Given the description of an element on the screen output the (x, y) to click on. 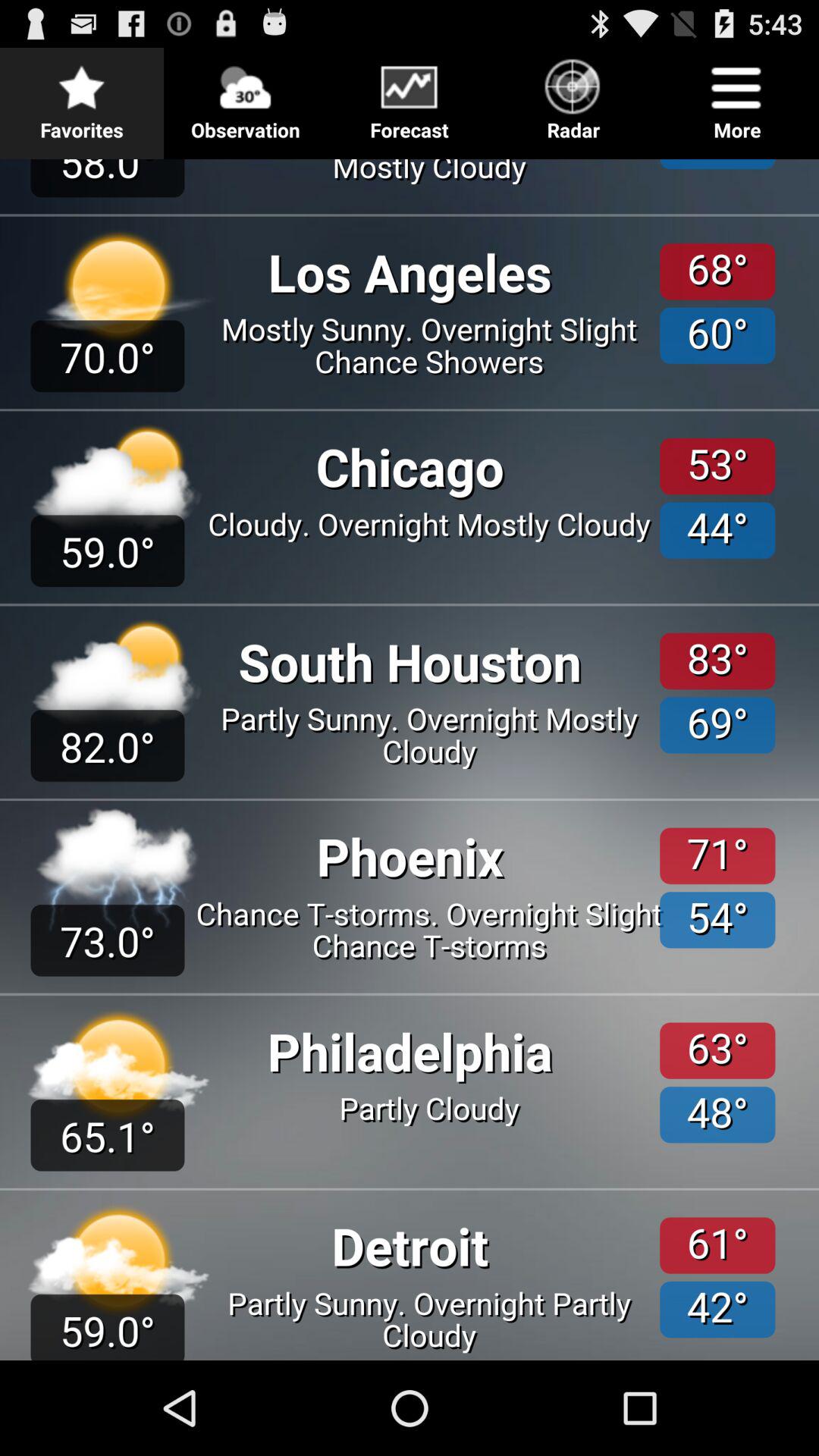
swipe until the favorites icon (81, 95)
